Given the description of an element on the screen output the (x, y) to click on. 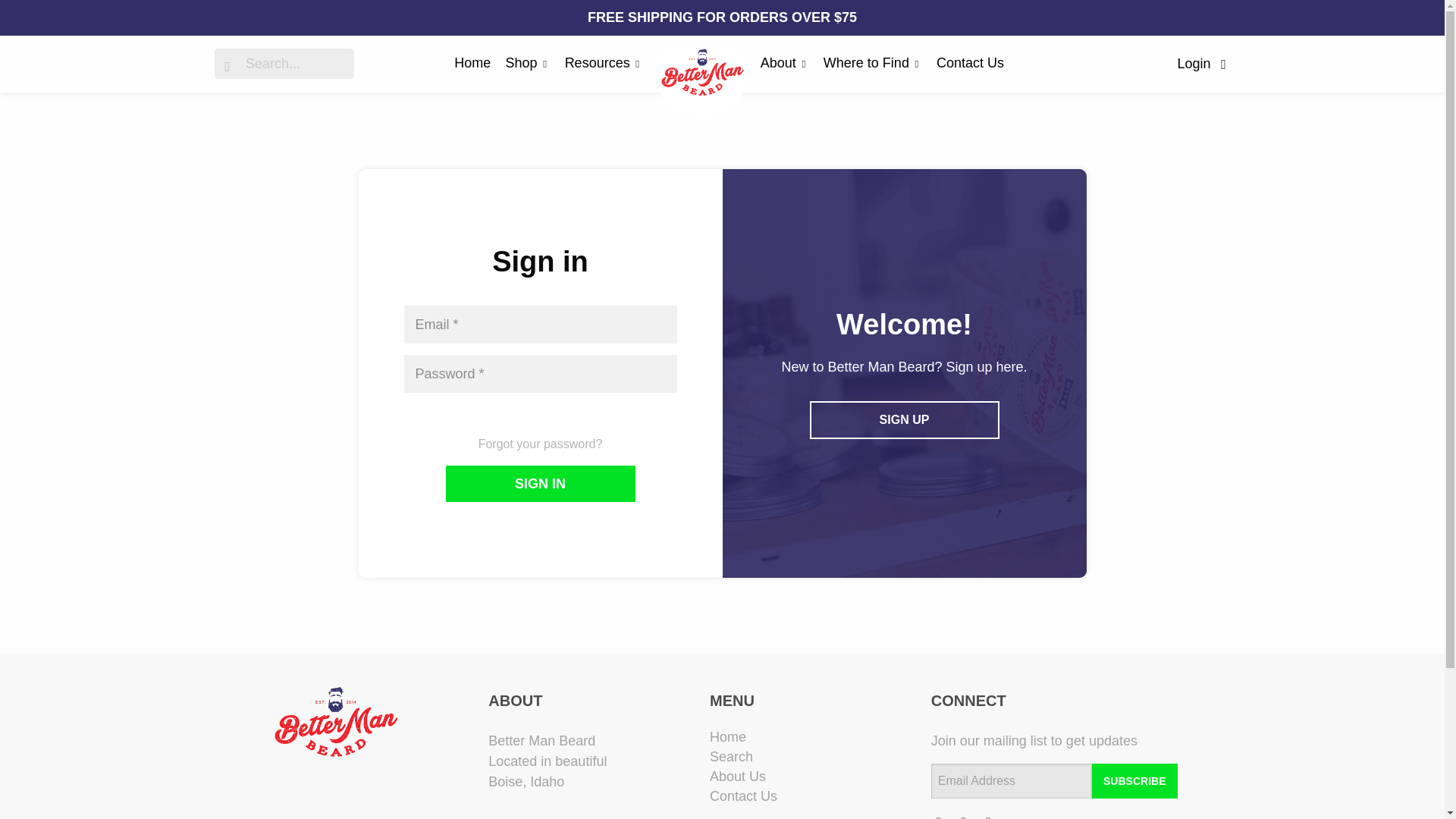
Resources (603, 63)
About (784, 63)
Home (472, 62)
Shop (527, 63)
